Given the description of an element on the screen output the (x, y) to click on. 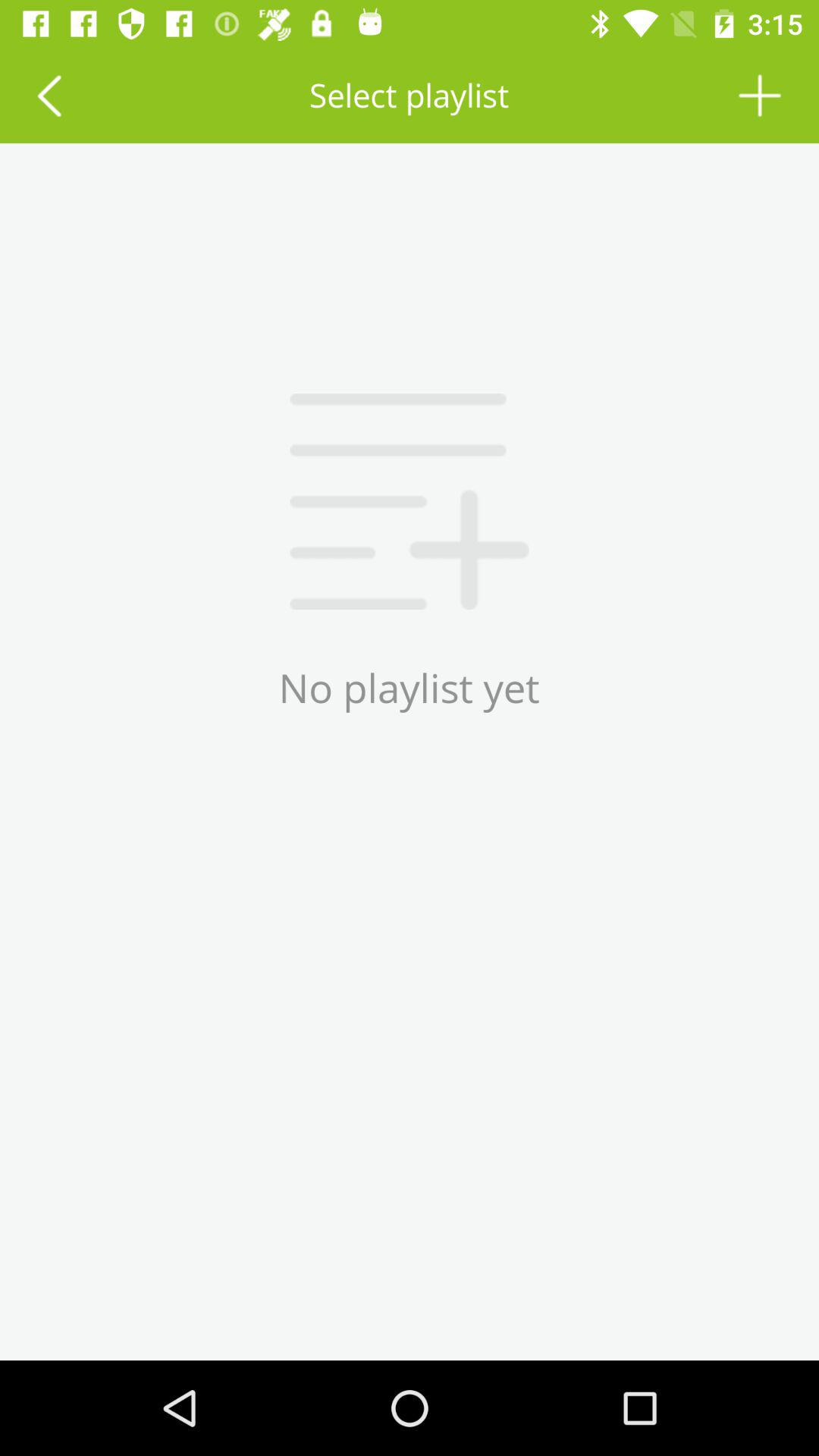
add playlist (759, 95)
